Given the description of an element on the screen output the (x, y) to click on. 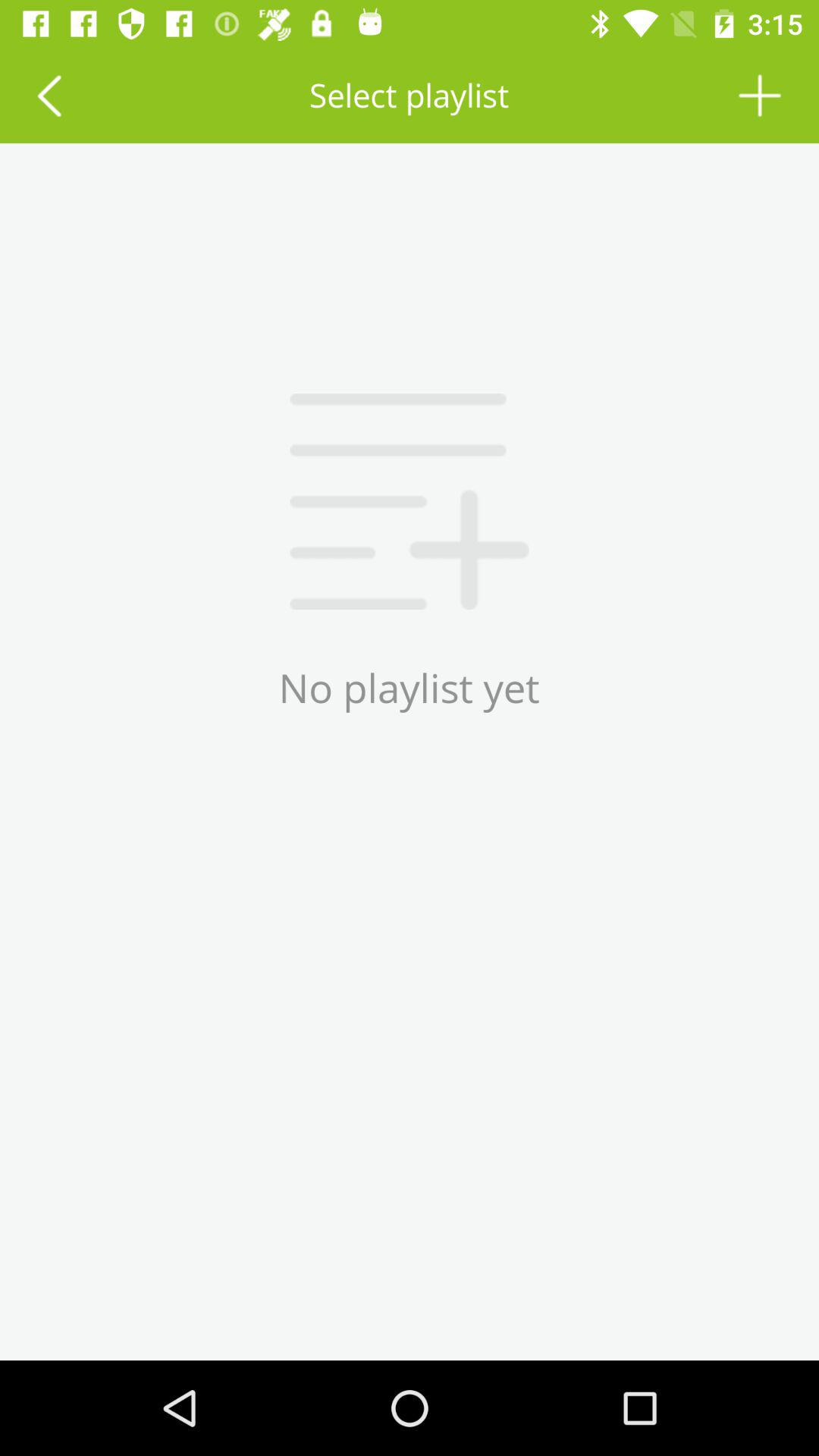
add playlist (759, 95)
